Given the description of an element on the screen output the (x, y) to click on. 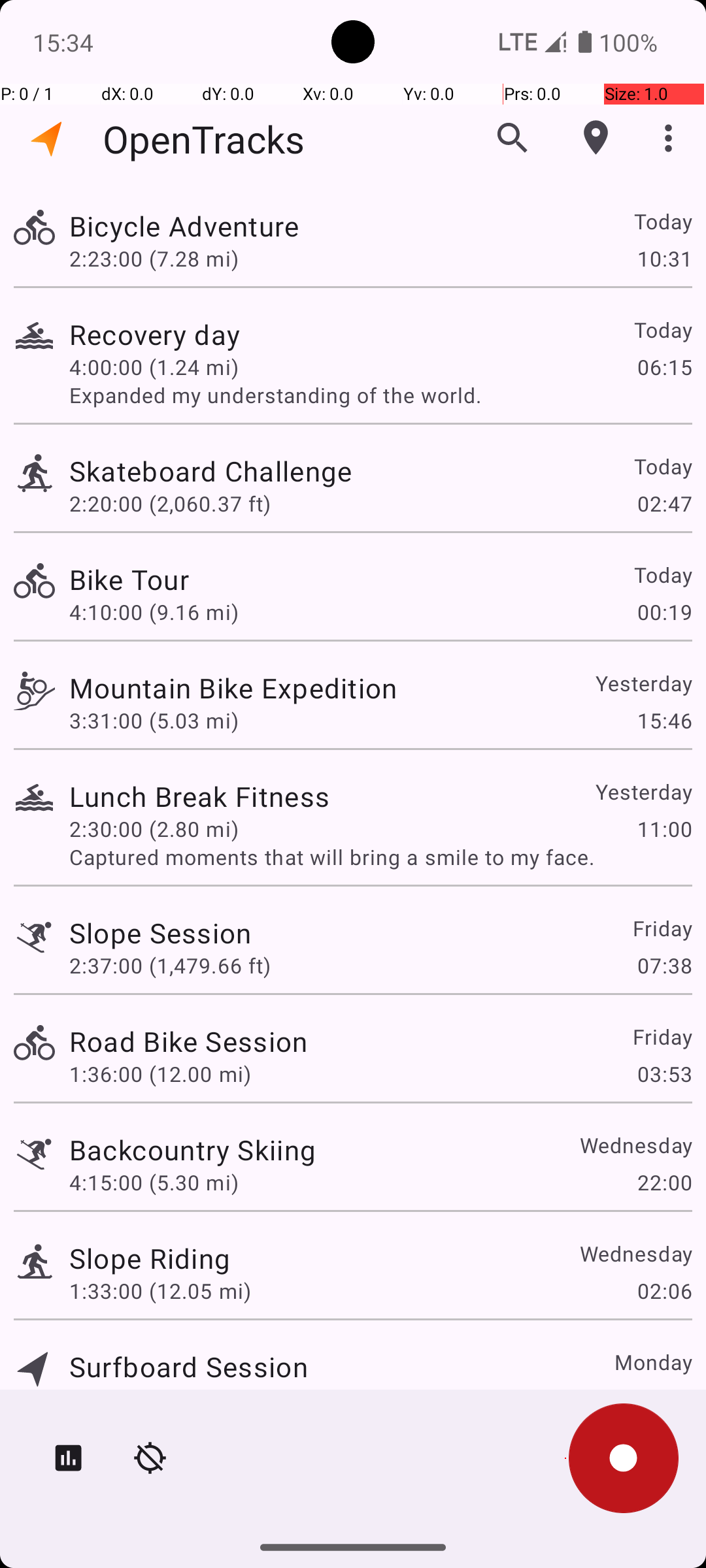
Bicycle Adventure Element type: android.widget.TextView (183, 225)
2:23:00 (7.28 mi) Element type: android.widget.TextView (153, 258)
10:31 Element type: android.widget.TextView (664, 258)
Recovery day Element type: android.widget.TextView (154, 333)
4:00:00 (1.24 mi) Element type: android.widget.TextView (153, 366)
06:15 Element type: android.widget.TextView (664, 366)
Expanded my understanding of the world. Element type: android.widget.TextView (380, 394)
Skateboard Challenge Element type: android.widget.TextView (210, 470)
2:20:00 (2,060.37 ft) Element type: android.widget.TextView (169, 503)
02:47 Element type: android.widget.TextView (664, 503)
Bike Tour Element type: android.widget.TextView (128, 578)
4:10:00 (9.16 mi) Element type: android.widget.TextView (153, 611)
00:19 Element type: android.widget.TextView (664, 611)
Mountain Bike Expedition Element type: android.widget.TextView (233, 687)
3:31:00 (5.03 mi) Element type: android.widget.TextView (153, 720)
15:46 Element type: android.widget.TextView (664, 720)
Lunch Break Fitness Element type: android.widget.TextView (199, 795)
2:30:00 (2.80 mi) Element type: android.widget.TextView (153, 828)
Captured moments that will bring a smile to my face. Element type: android.widget.TextView (380, 856)
Slope Session Element type: android.widget.TextView (160, 932)
2:37:00 (1,479.66 ft) Element type: android.widget.TextView (169, 965)
07:38 Element type: android.widget.TextView (664, 965)
Road Bike Session Element type: android.widget.TextView (187, 1040)
1:36:00 (12.00 mi) Element type: android.widget.TextView (159, 1073)
03:53 Element type: android.widget.TextView (664, 1073)
Backcountry Skiing Element type: android.widget.TextView (192, 1149)
4:15:00 (5.30 mi) Element type: android.widget.TextView (153, 1182)
22:00 Element type: android.widget.TextView (664, 1182)
Slope Riding Element type: android.widget.TextView (149, 1257)
1:33:00 (12.05 mi) Element type: android.widget.TextView (159, 1290)
02:06 Element type: android.widget.TextView (664, 1290)
Surfboard Session Element type: android.widget.TextView (188, 1366)
3:11:00 (5.57 mi) Element type: android.widget.TextView (153, 1399)
18:07 Element type: android.widget.TextView (664, 1399)
